Given the description of an element on the screen output the (x, y) to click on. 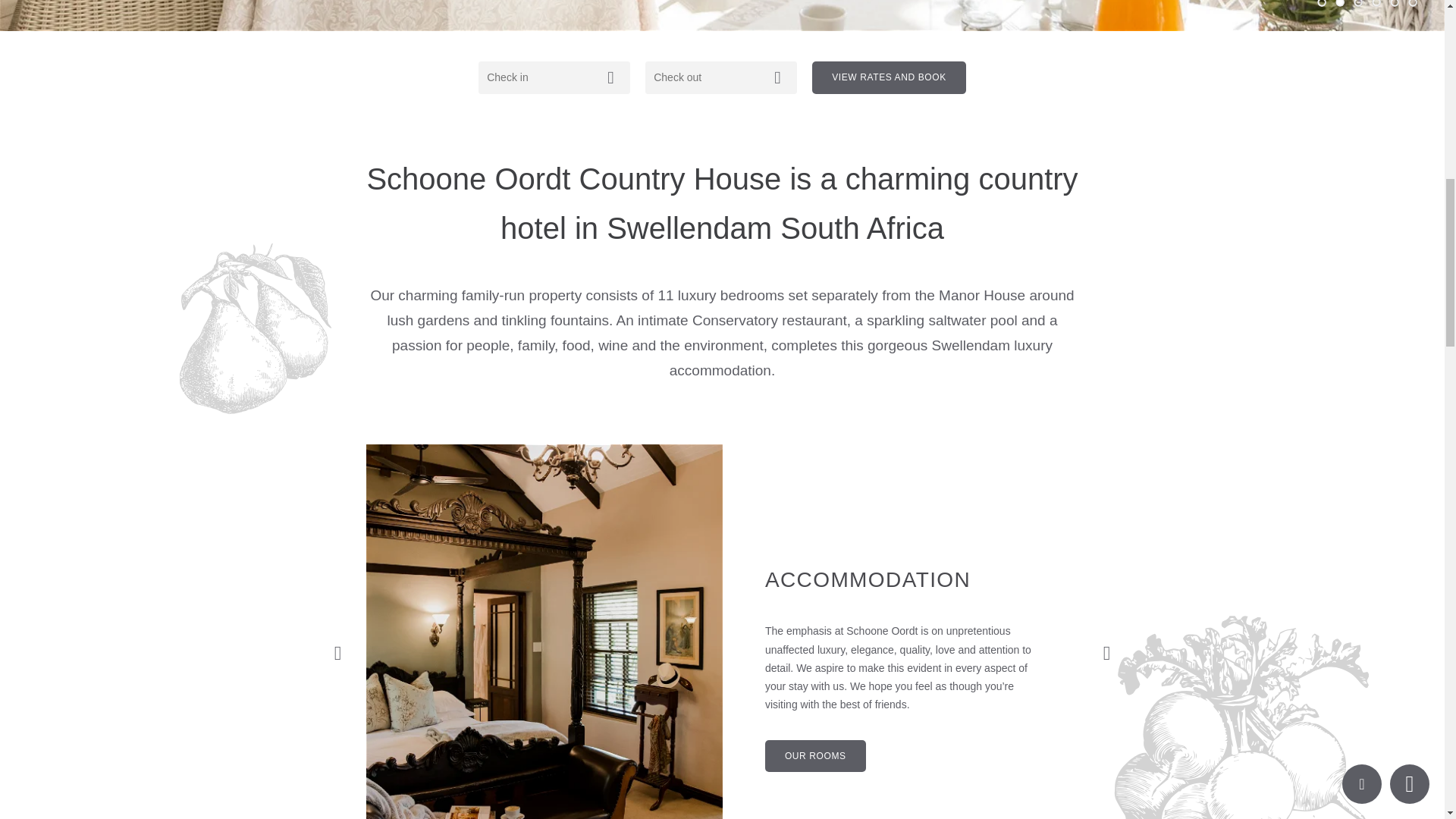
View Rates and Book (889, 77)
